Given the description of an element on the screen output the (x, y) to click on. 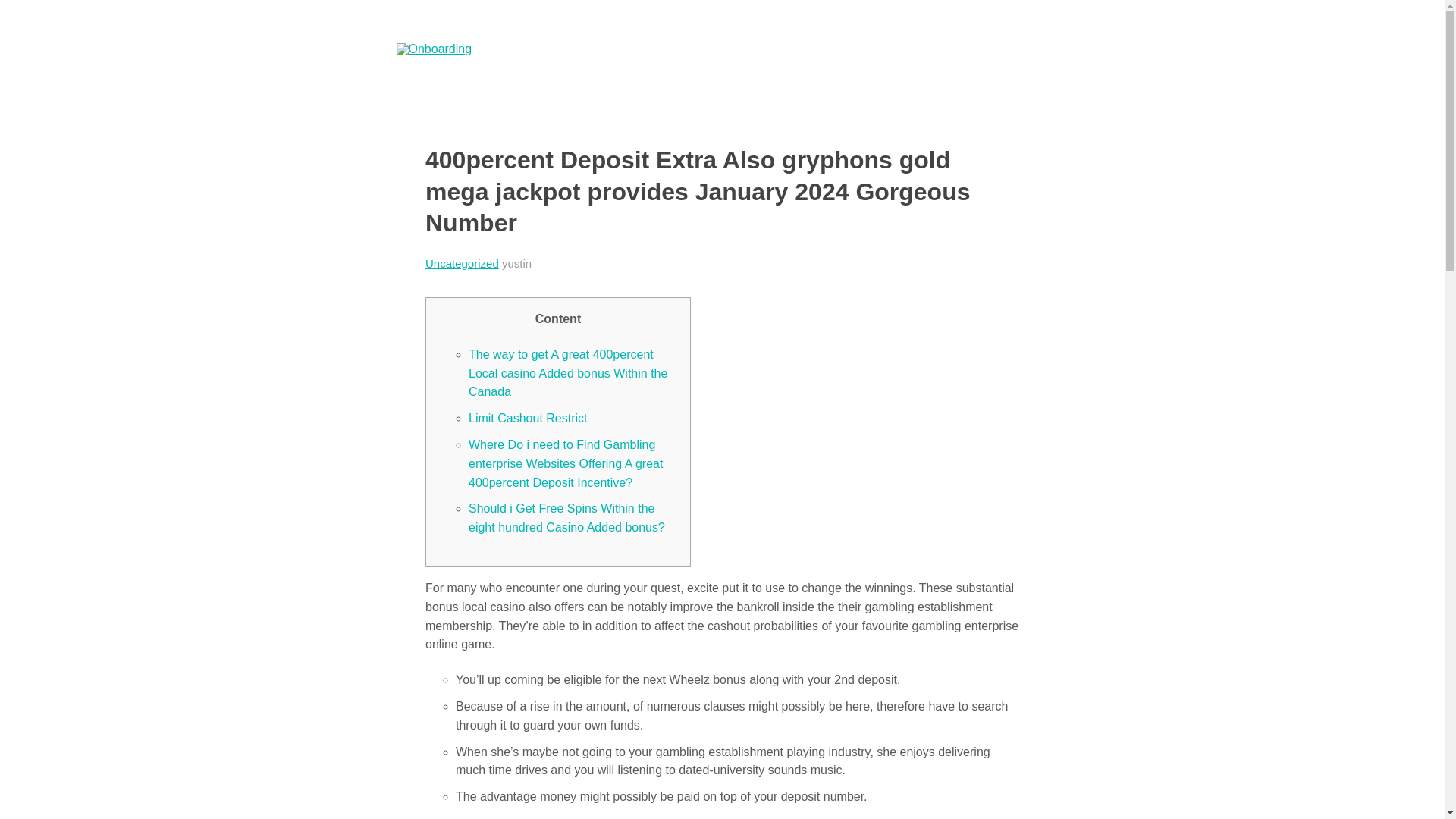
Uncategorized (462, 263)
Limit Cashout Restrict (528, 418)
DASHBOARD (739, 35)
EDUCATION (564, 35)
REPORTER (710, 62)
CAMPAIGN FEED (936, 35)
DESIGN (651, 35)
PLANNER (831, 35)
